Given the description of an element on the screen output the (x, y) to click on. 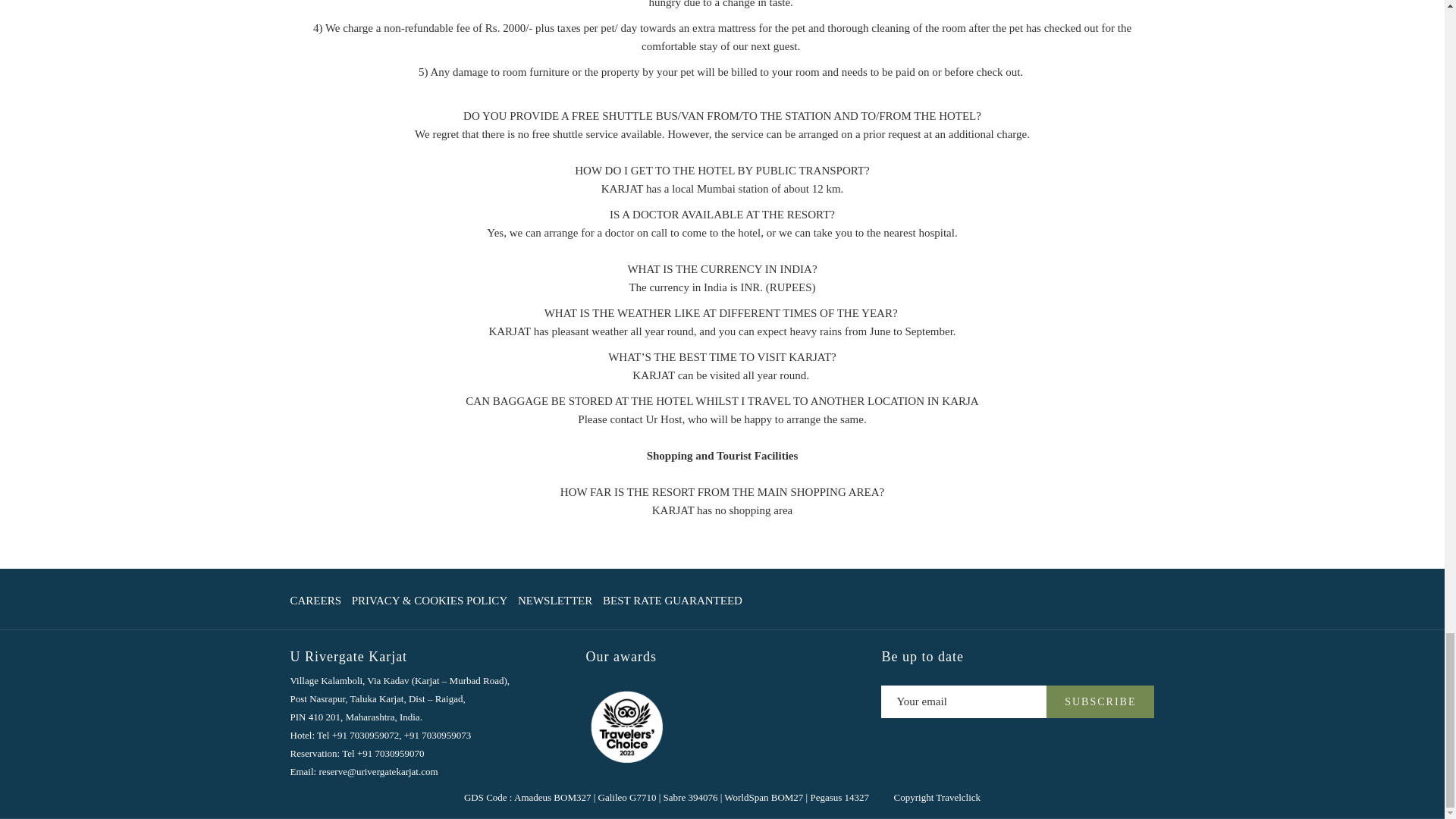
SUBSCRIBE (1100, 701)
BEST RATE GUARANTEED (672, 600)
NEWSLETTER (555, 600)
CAREERS (314, 600)
